Given the description of an element on the screen output the (x, y) to click on. 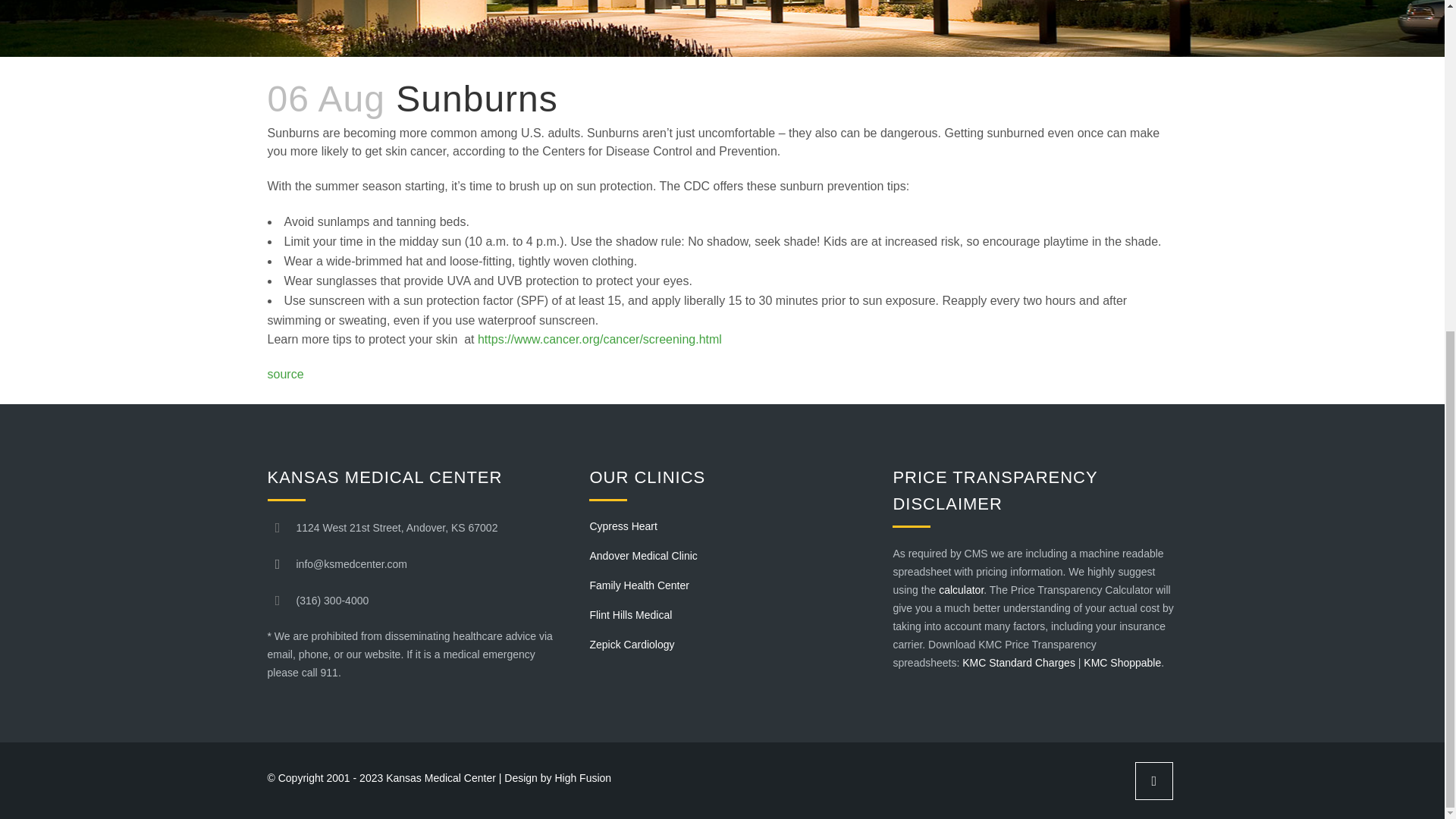
Family Health Center (729, 585)
Flint Hills Medical (729, 614)
KMC Standard Charges (1018, 662)
Cypress Heart (729, 525)
calculator (961, 589)
KMC Shoppable (1121, 662)
Andover Medical Clinic (729, 555)
High Fusion (582, 777)
Zepick Cardiology (729, 644)
source (284, 373)
